Given the description of an element on the screen output the (x, y) to click on. 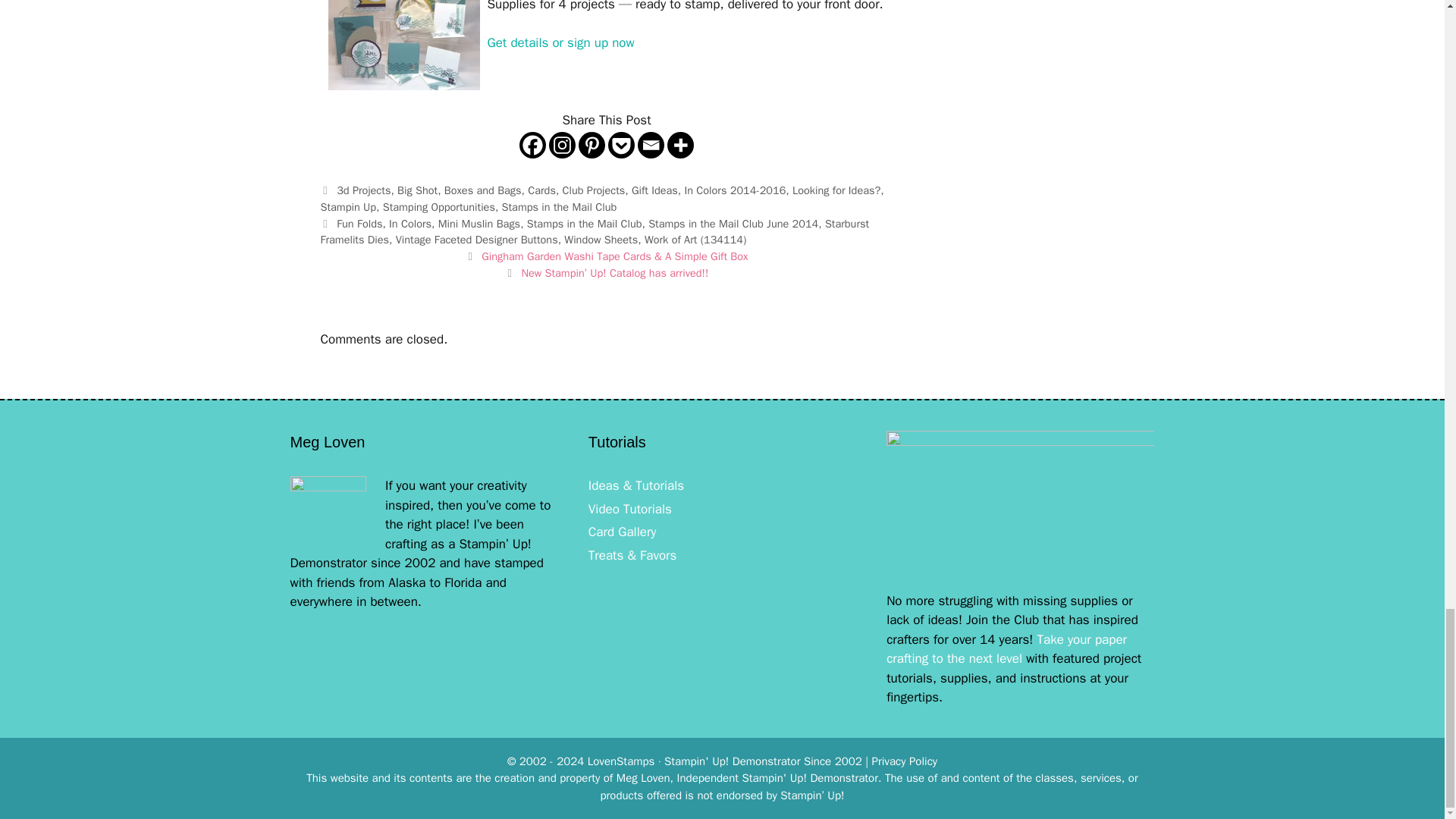
Get details or sign up now (559, 42)
